Given the description of an element on the screen output the (x, y) to click on. 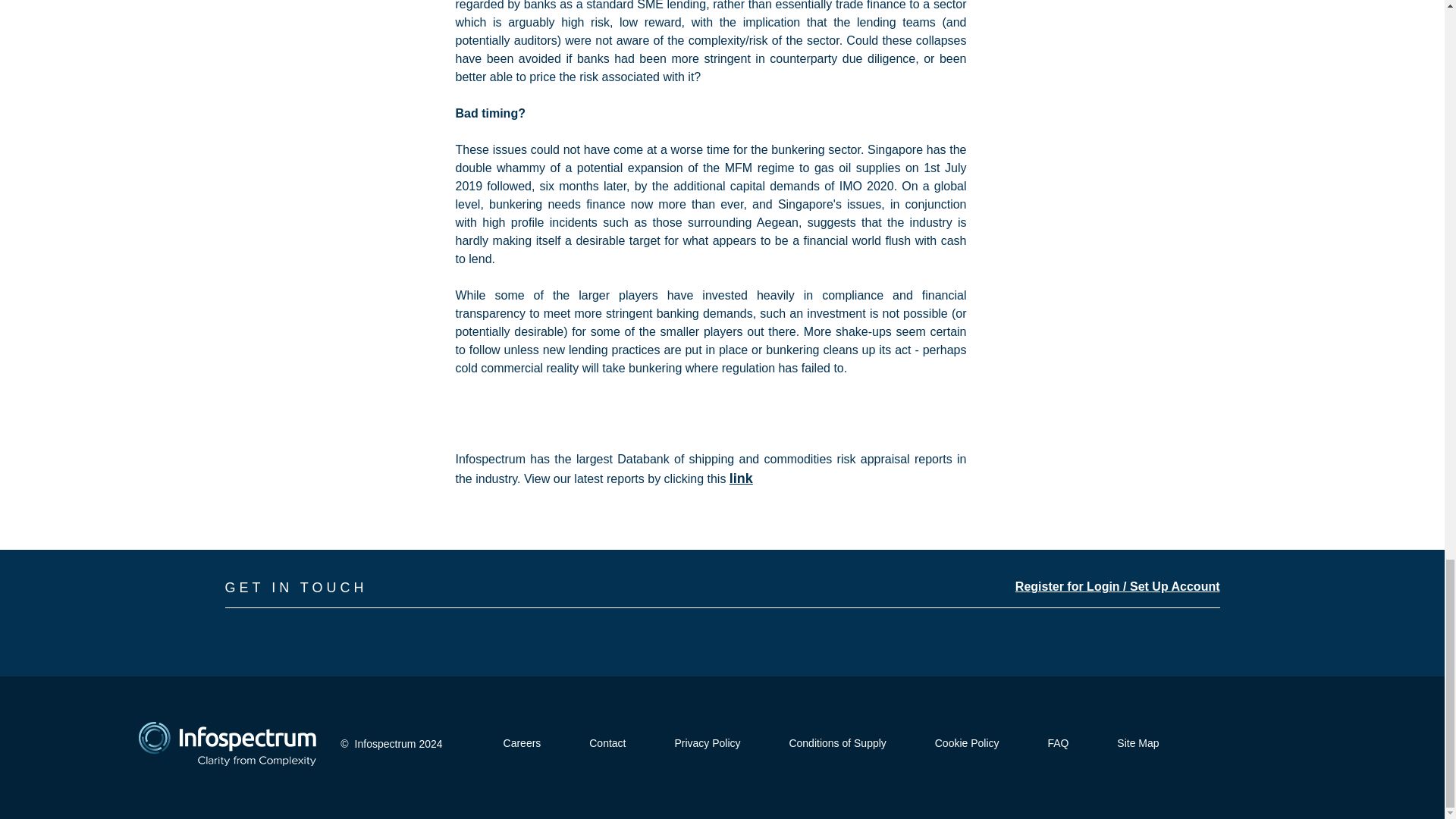
Cookie Policy (966, 743)
Contact (607, 743)
FAQ (1057, 743)
Privacy Policy (706, 743)
go to homepage (226, 743)
link (740, 478)
Conditions of Supply (837, 743)
Careers (522, 743)
